Given the description of an element on the screen output the (x, y) to click on. 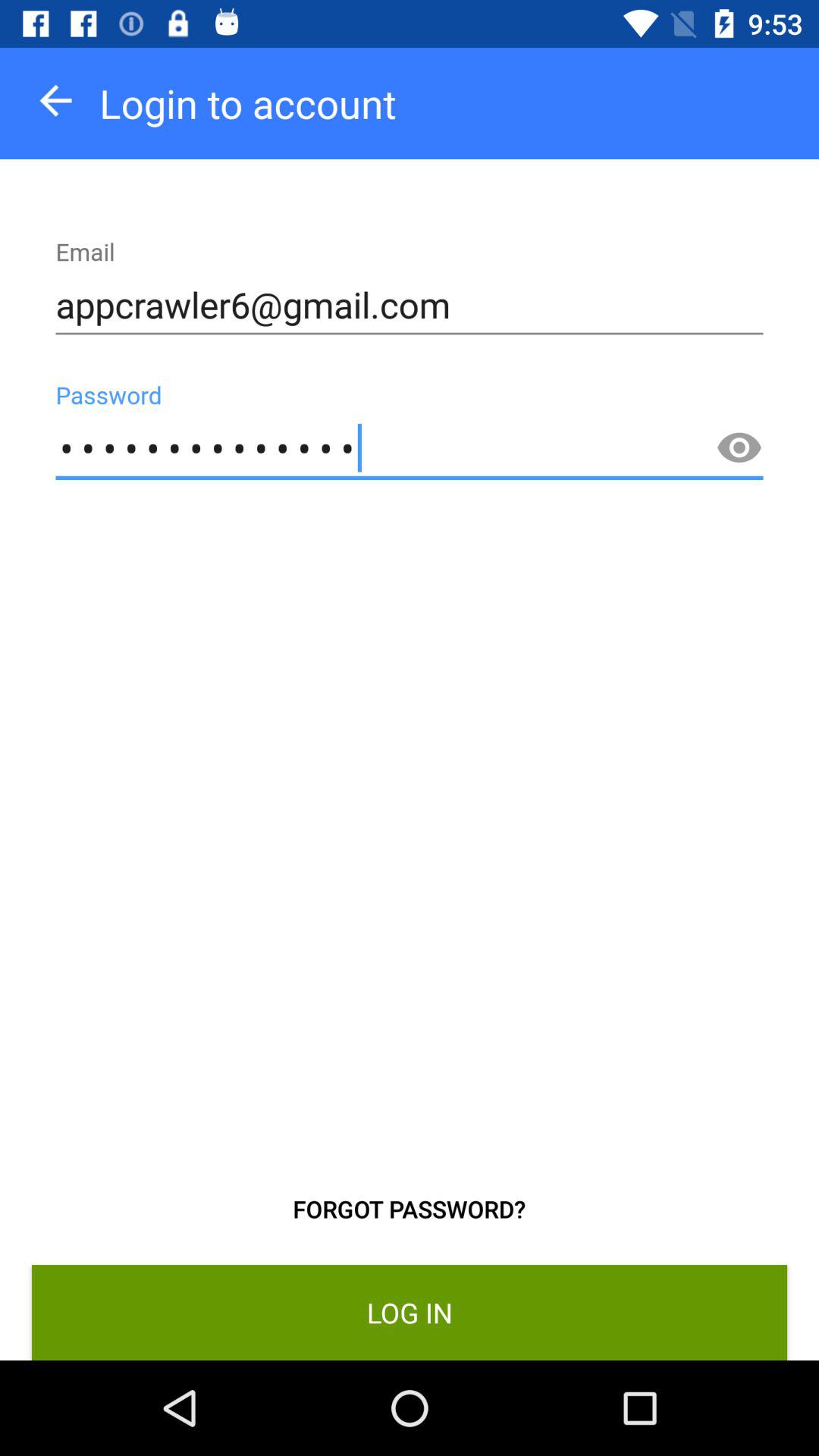
open the icon above forgot password? (409, 448)
